Given the description of an element on the screen output the (x, y) to click on. 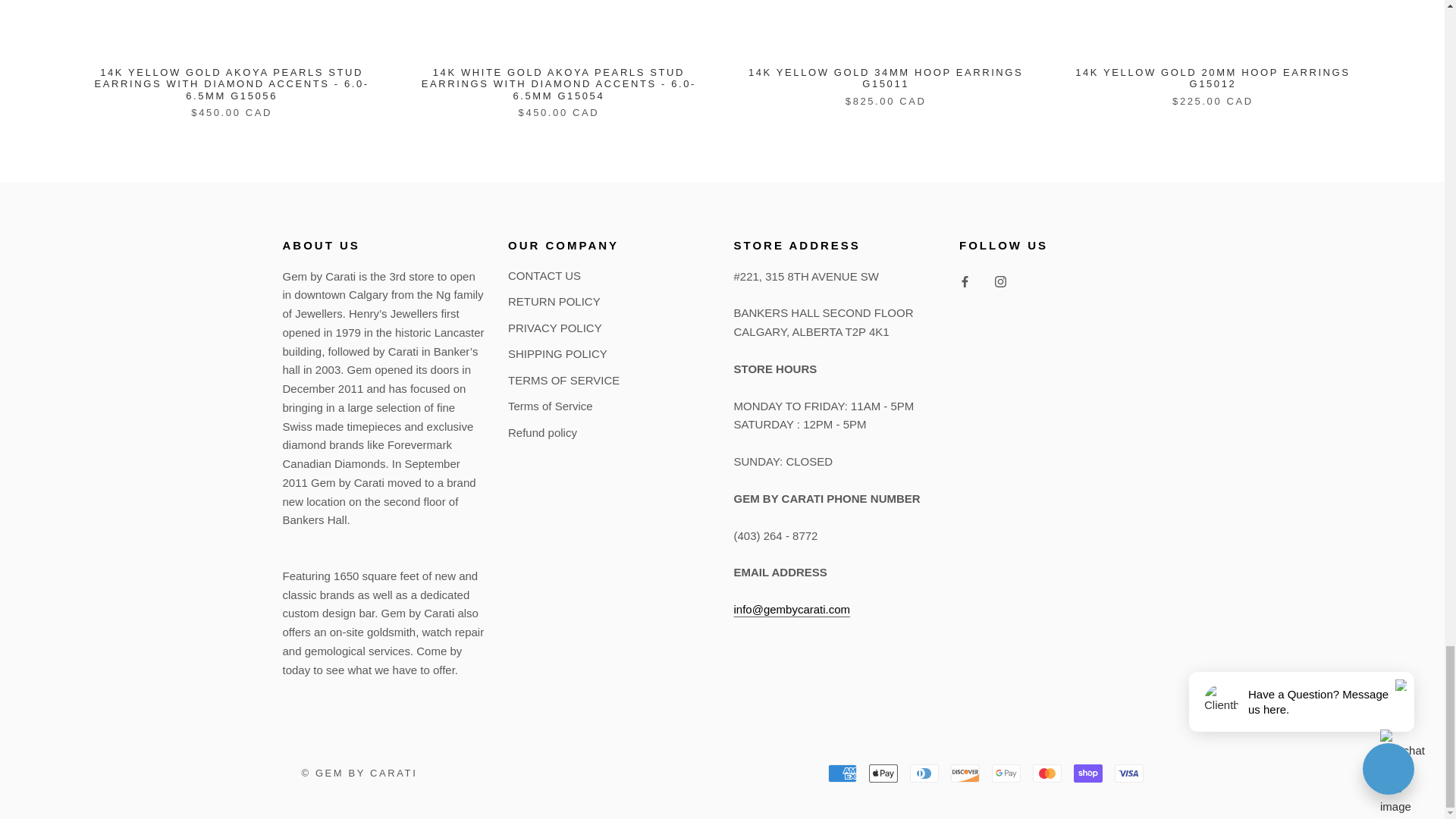
Shop Pay (1088, 773)
Discover (964, 773)
Diners Club (924, 773)
Apple Pay (883, 773)
American Express (842, 773)
Mastercard (1046, 773)
Google Pay (1005, 773)
Visa (1128, 773)
